Given the description of an element on the screen output the (x, y) to click on. 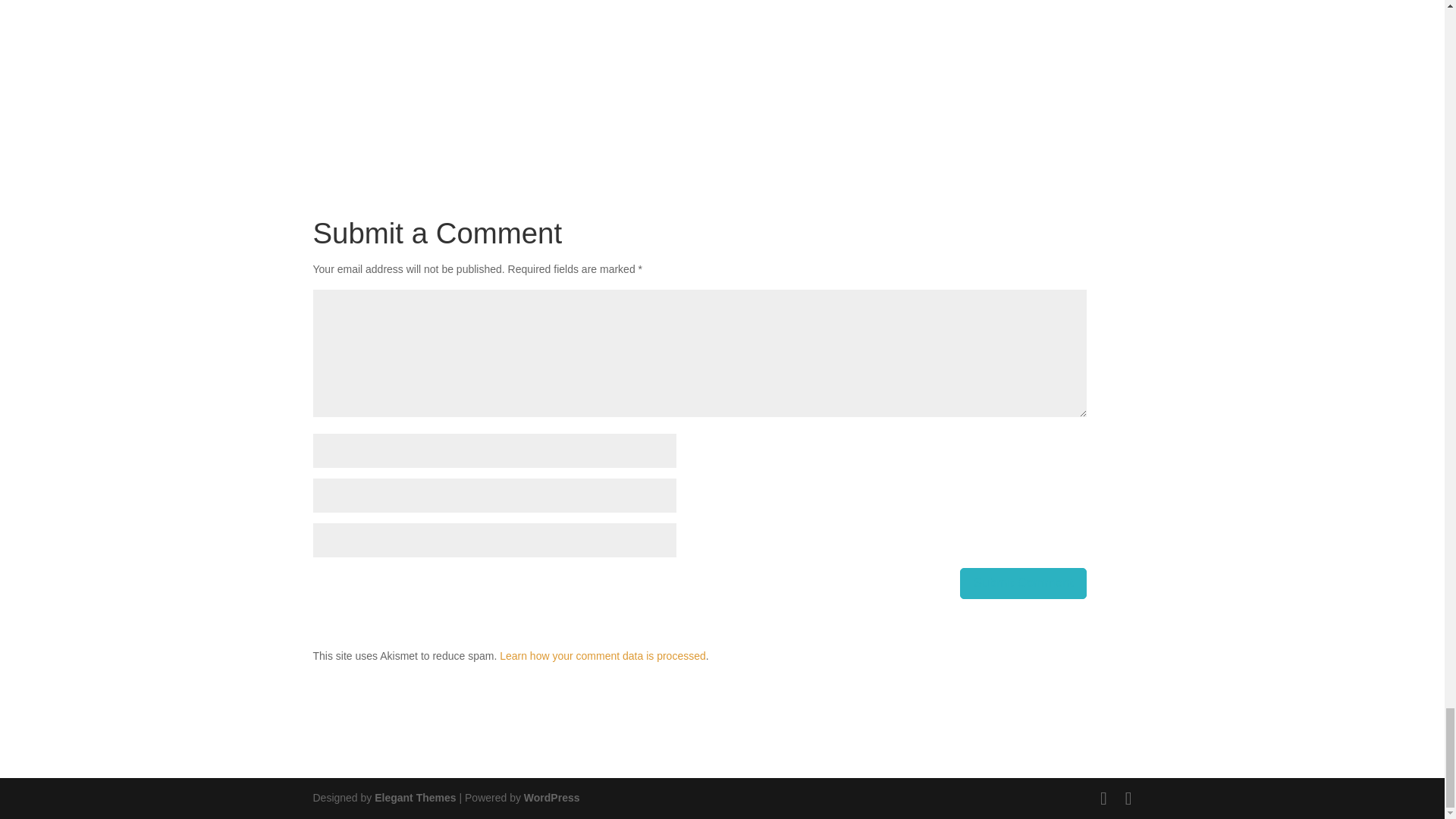
Submit Comment (1022, 583)
high school senior portraits (699, 71)
Elegant Themes (414, 797)
WordPress (551, 797)
Learn how your comment data is processed (602, 655)
Premium WordPress Themes (414, 797)
Submit Comment (1022, 583)
